Given the description of an element on the screen output the (x, y) to click on. 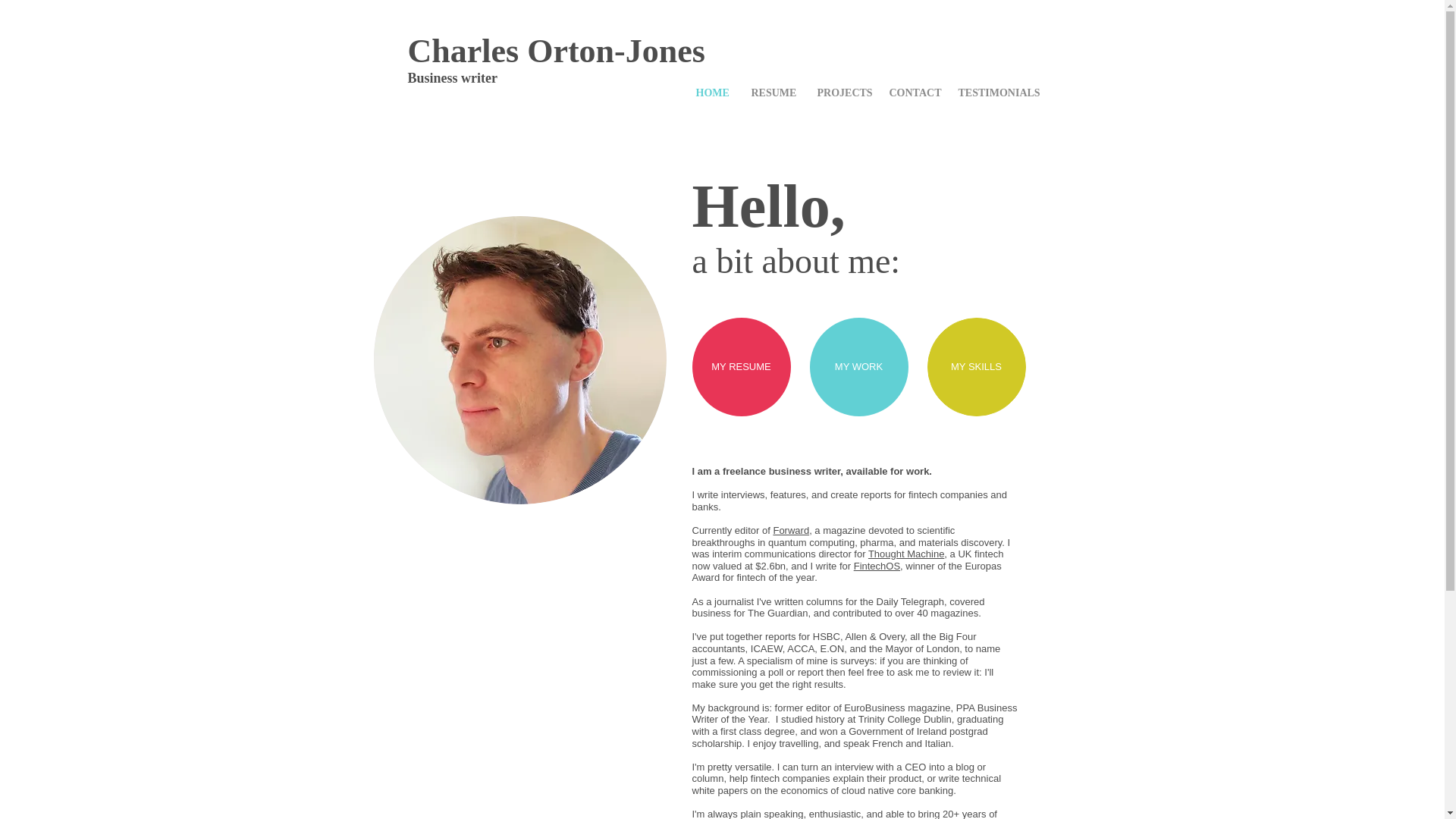
FintechOS (876, 565)
MY SKILLS (975, 366)
Forward (791, 530)
MY WORK (858, 366)
MY RESUME (740, 366)
Thought Machine (905, 553)
HOME (711, 92)
Charles Orton-Jones (555, 50)
Charles Orton-Jones.jpg (518, 360)
PROJECTS (841, 92)
RESUME (772, 92)
CONTACT (912, 92)
TESTIMONIALS (995, 92)
